Given the description of an element on the screen output the (x, y) to click on. 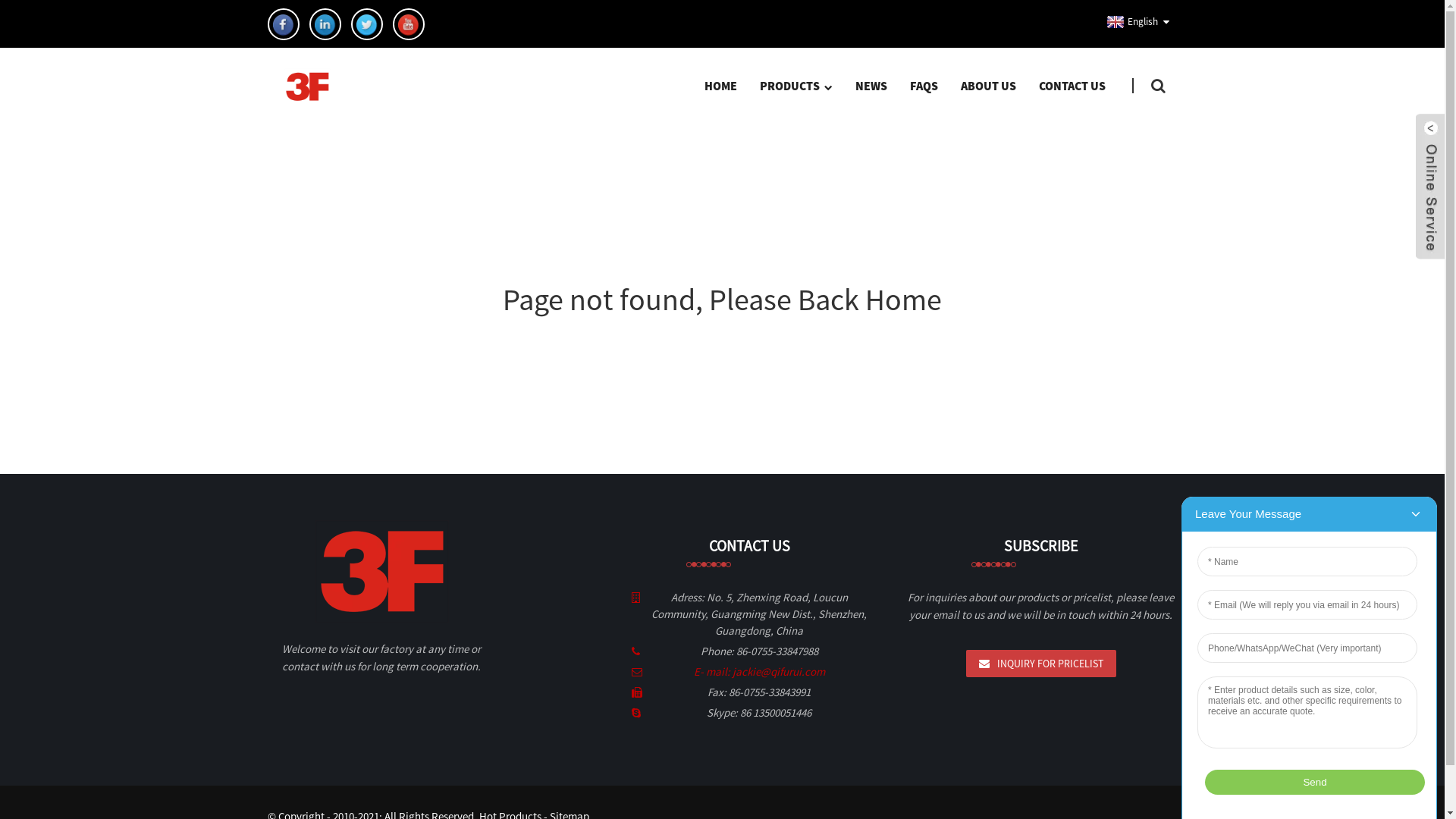
CONTACT US Element type: text (1071, 85)
INQUIRY FOR PRICELIST Element type: text (1041, 663)
NEWS Element type: text (870, 85)
English Element type: text (1129, 21)
Page not found, Please Back Home Element type: text (721, 299)
ABOUT US Element type: text (988, 85)
E- mail: jackie@qifurui.com Element type: text (758, 671)
FAQS Element type: text (922, 85)
HOME Element type: text (720, 85)
PRODUCTS Element type: text (795, 86)
